Given the description of an element on the screen output the (x, y) to click on. 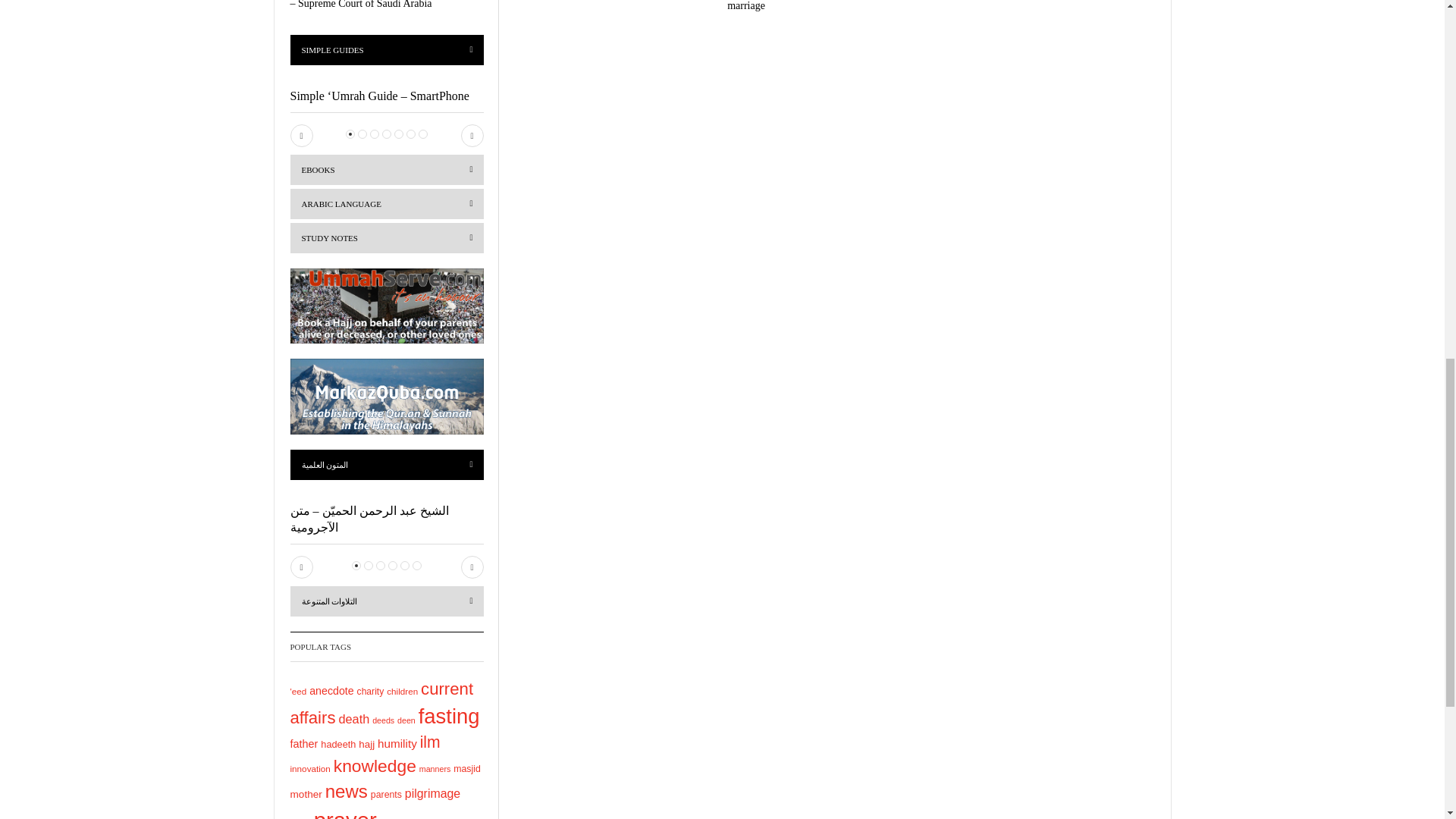
Markaz Quba, Nepal (386, 396)
